Given the description of an element on the screen output the (x, y) to click on. 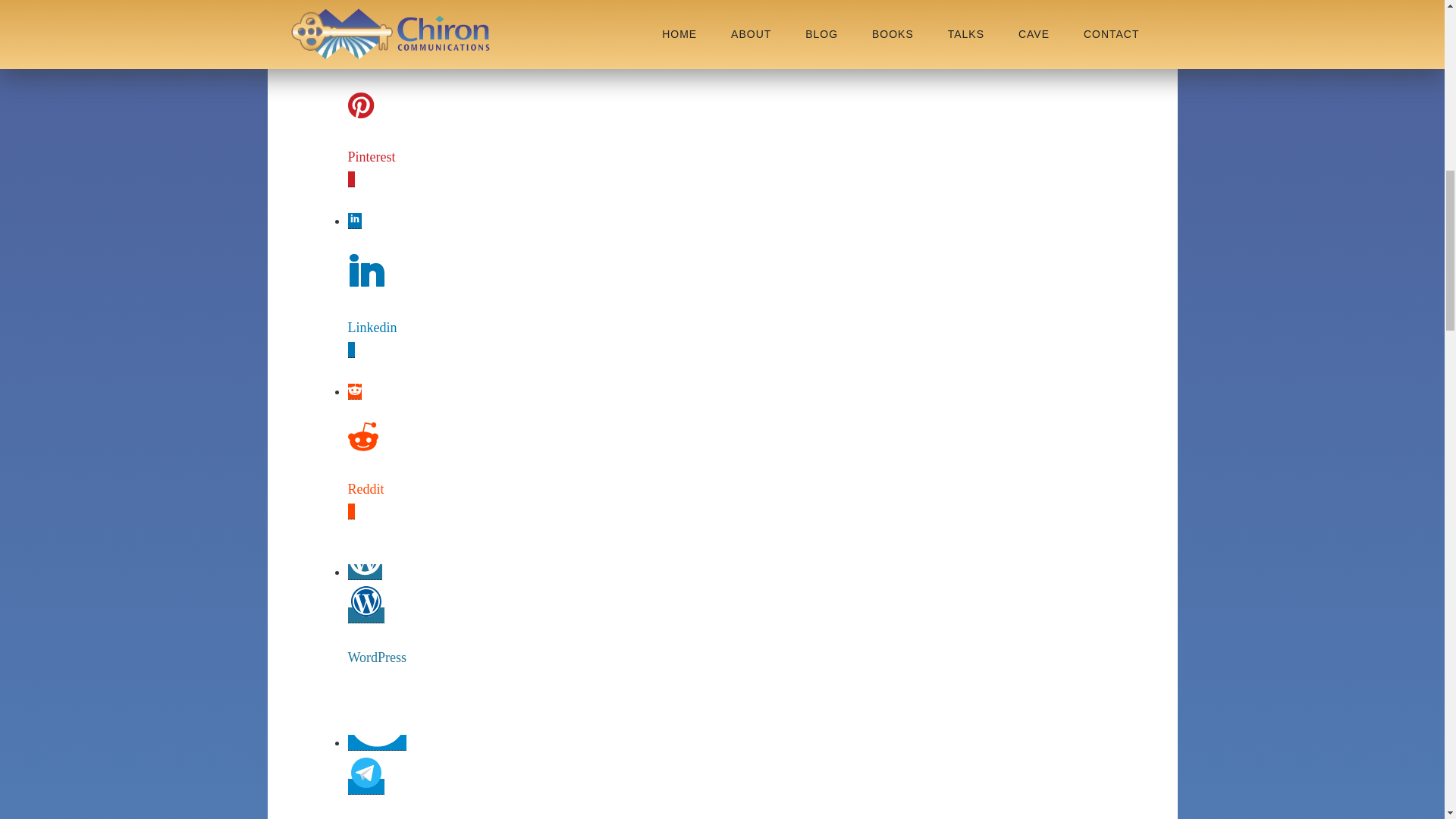
Reddit (376, 488)
Wechat (376, 15)
Linkedin (376, 327)
Pinterest (376, 156)
Telegram (376, 818)
Wechat (376, 19)
Wordpress (376, 657)
